Given the description of an element on the screen output the (x, y) to click on. 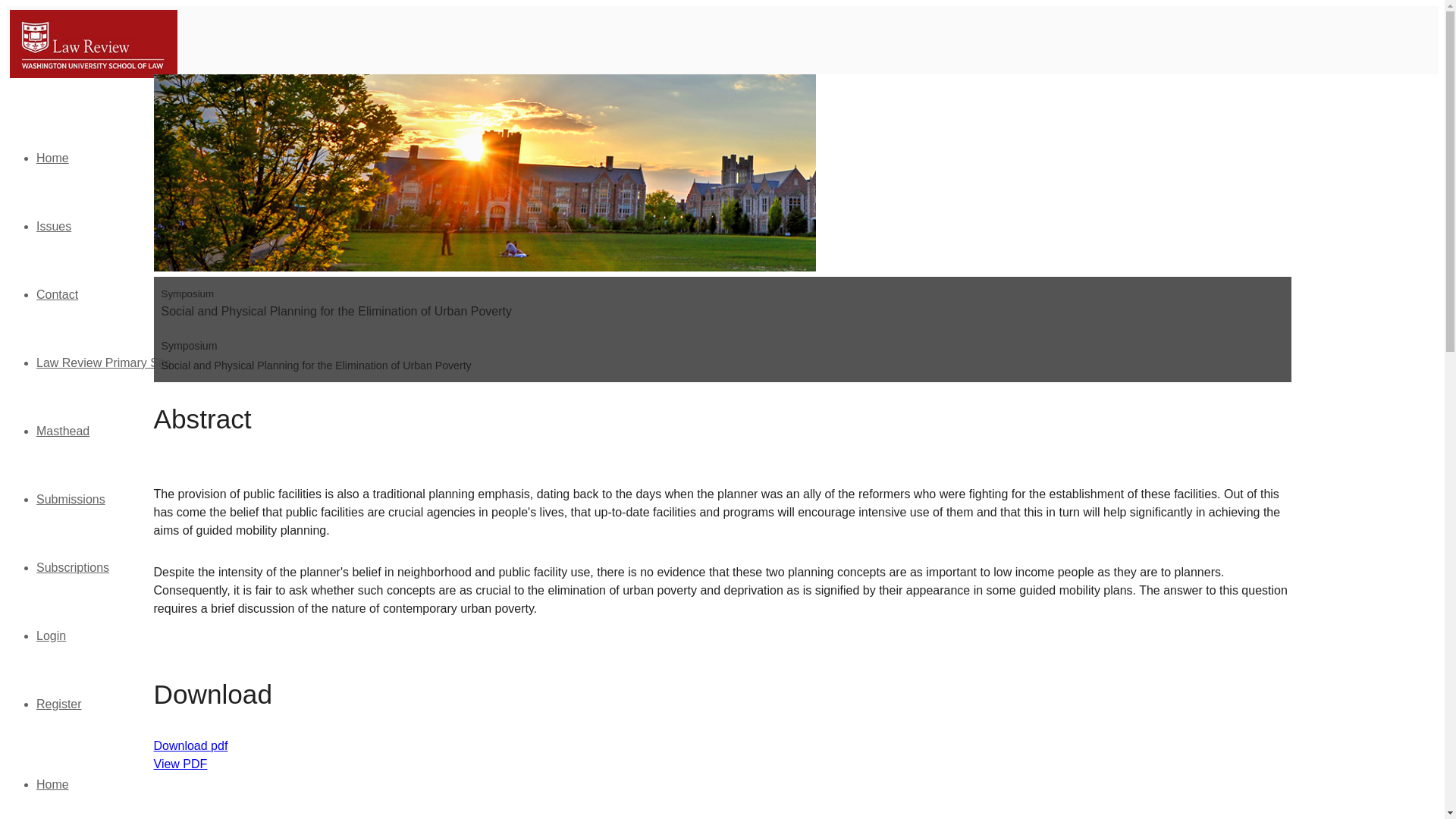
Law Review Primary Site (103, 362)
Masthead (62, 431)
Issues (53, 226)
Download pdf (189, 745)
Contact (57, 294)
View PDF (179, 763)
Register (58, 703)
Login (50, 635)
Home (52, 784)
Home (52, 157)
Subscriptions (72, 567)
Submissions (70, 499)
